Given the description of an element on the screen output the (x, y) to click on. 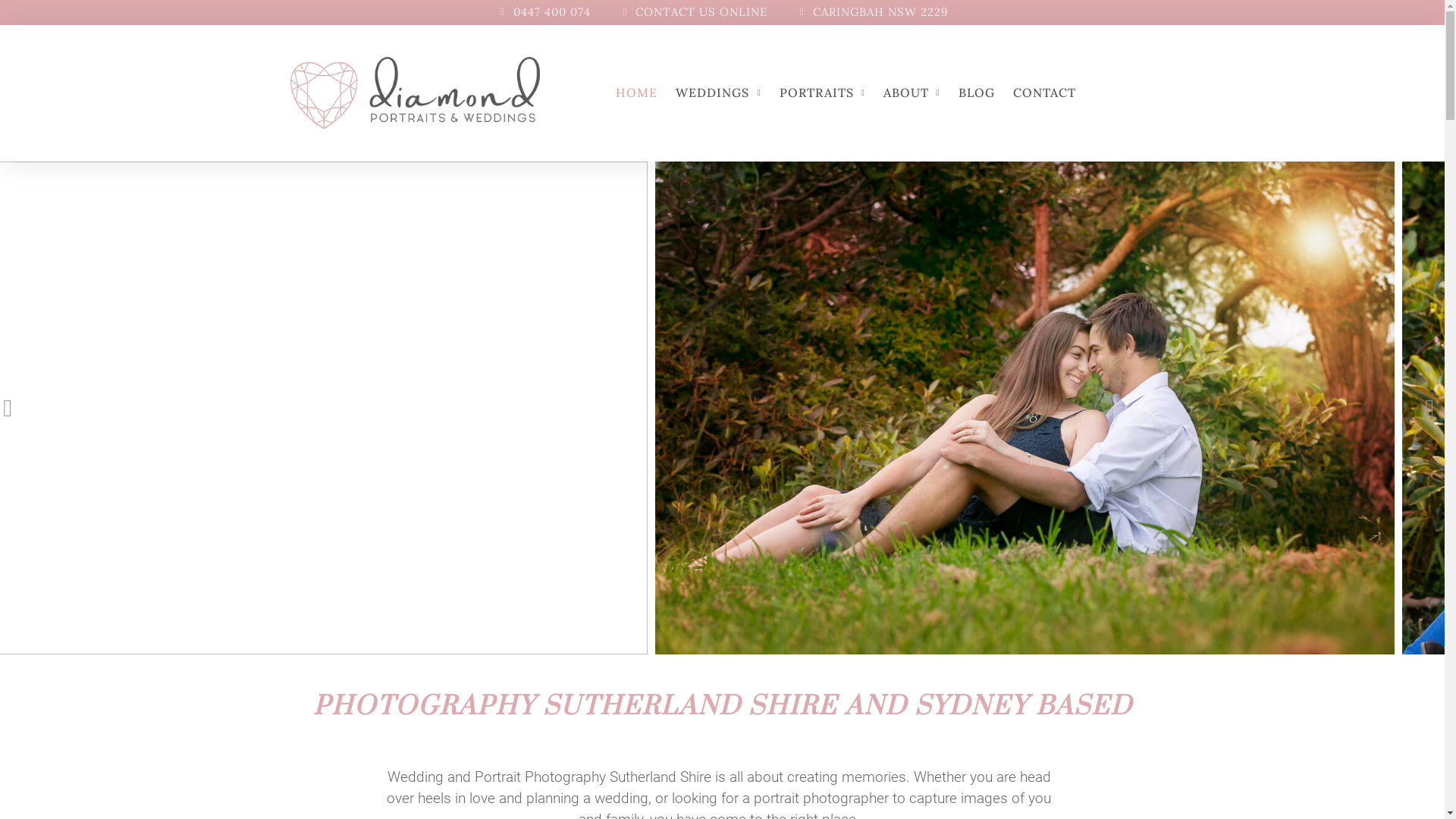
BLOG Element type: text (976, 92)
PORTRAITS Element type: text (822, 92)
ABOUT Element type: text (911, 92)
CONTACT US ONLINE Element type: text (693, 12)
HOME Element type: text (636, 92)
CONTACT Element type: text (1044, 92)
CARINGBAH NSW 2229 Element type: text (871, 12)
0447 400 074 Element type: text (542, 12)
WEDDINGS Element type: text (717, 92)
